Given the description of an element on the screen output the (x, y) to click on. 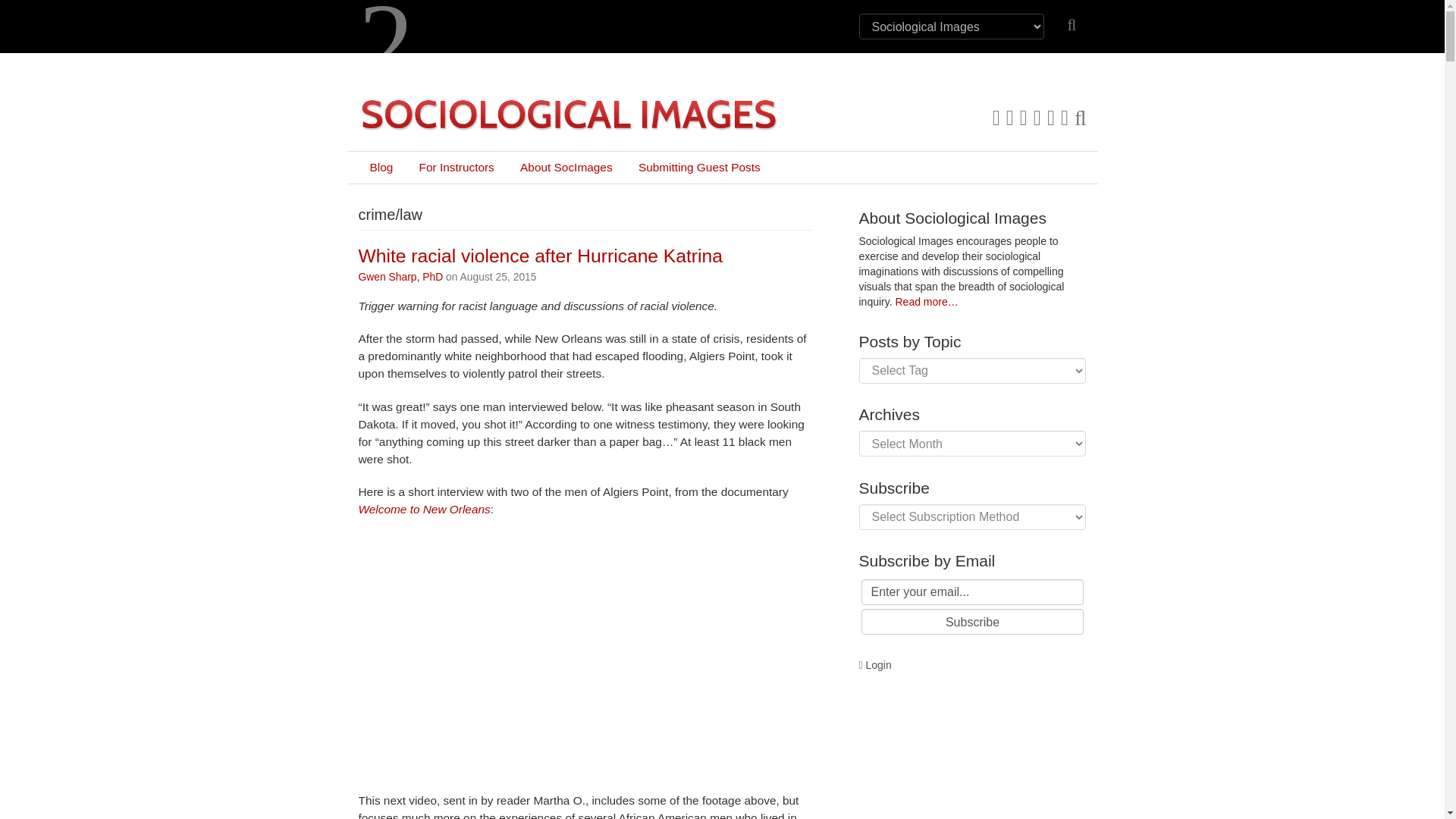
Blog (381, 167)
Enter your email... (972, 592)
For Instructors (456, 167)
For Instructors (456, 167)
About SocImages (566, 167)
Subscribe (972, 621)
Submitting Guest Posts (699, 167)
Gwen Sharp, PhD (400, 276)
Welcome to New Orleans (423, 508)
Blog (381, 167)
About SocImages (566, 167)
White racial violence after Hurricane Katrina (540, 255)
Submitting Guest Posts (699, 167)
